Given the description of an element on the screen output the (x, y) to click on. 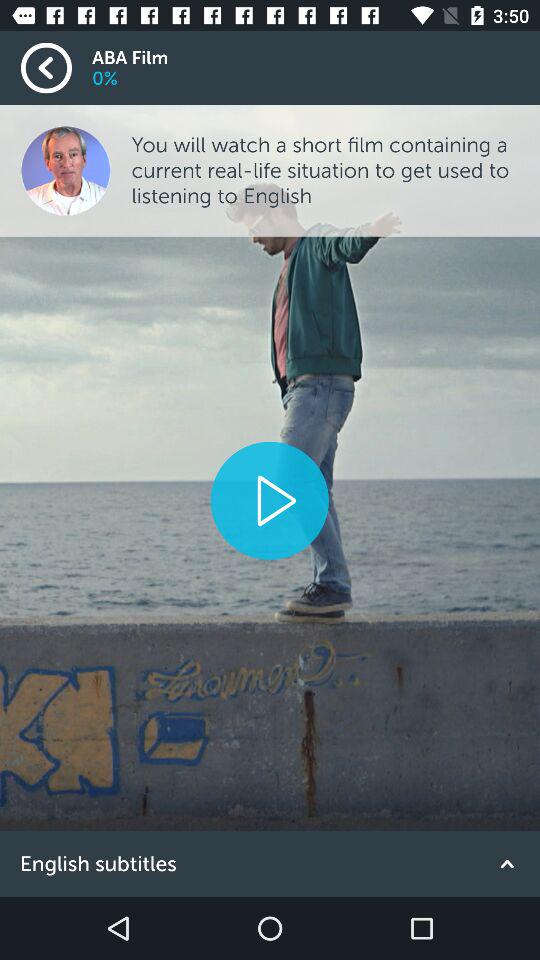
press the no subtitles icon (270, 863)
